Given the description of an element on the screen output the (x, y) to click on. 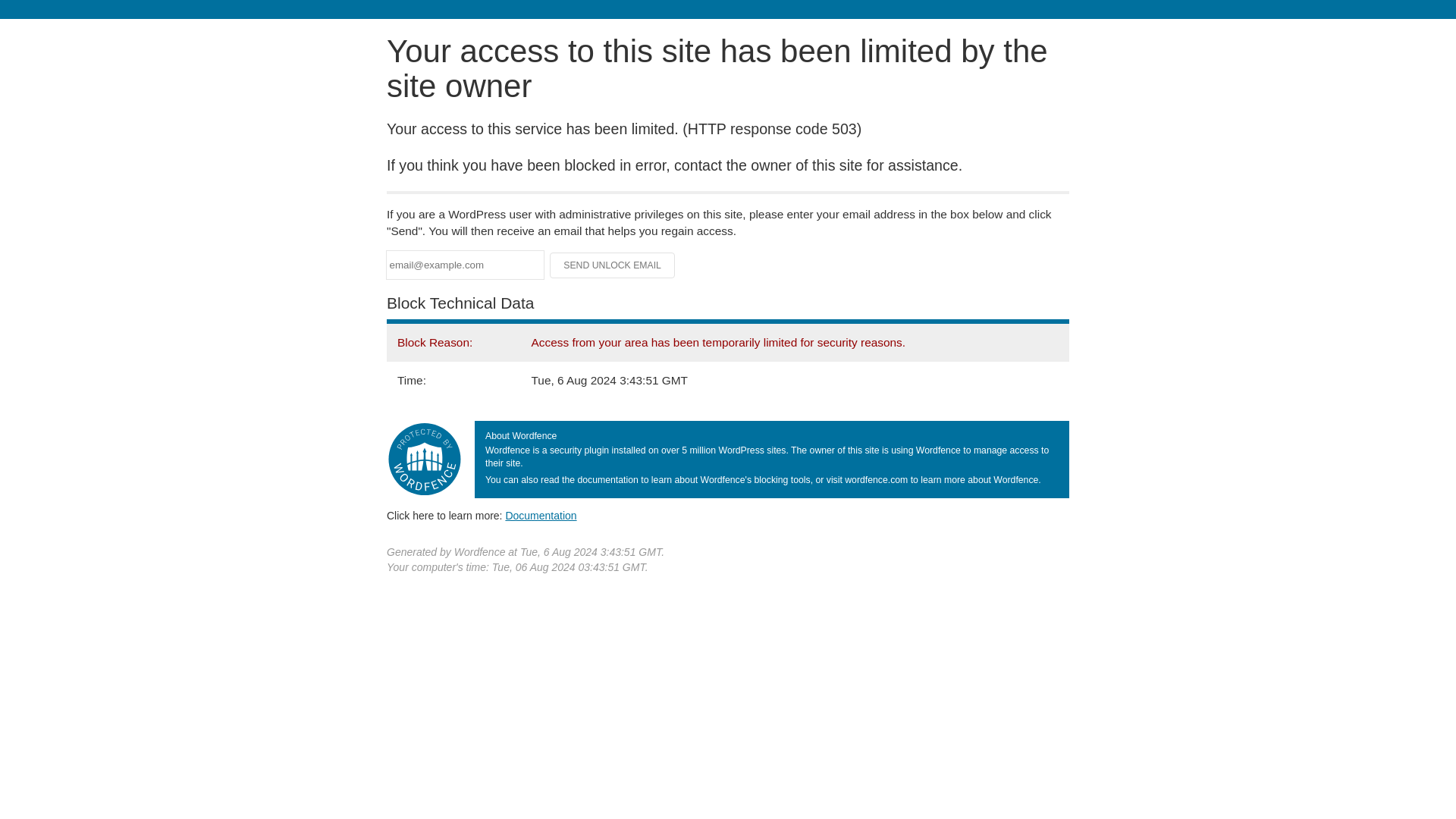
Send Unlock Email (612, 265)
Documentation (540, 515)
Send Unlock Email (612, 265)
